Given the description of an element on the screen output the (x, y) to click on. 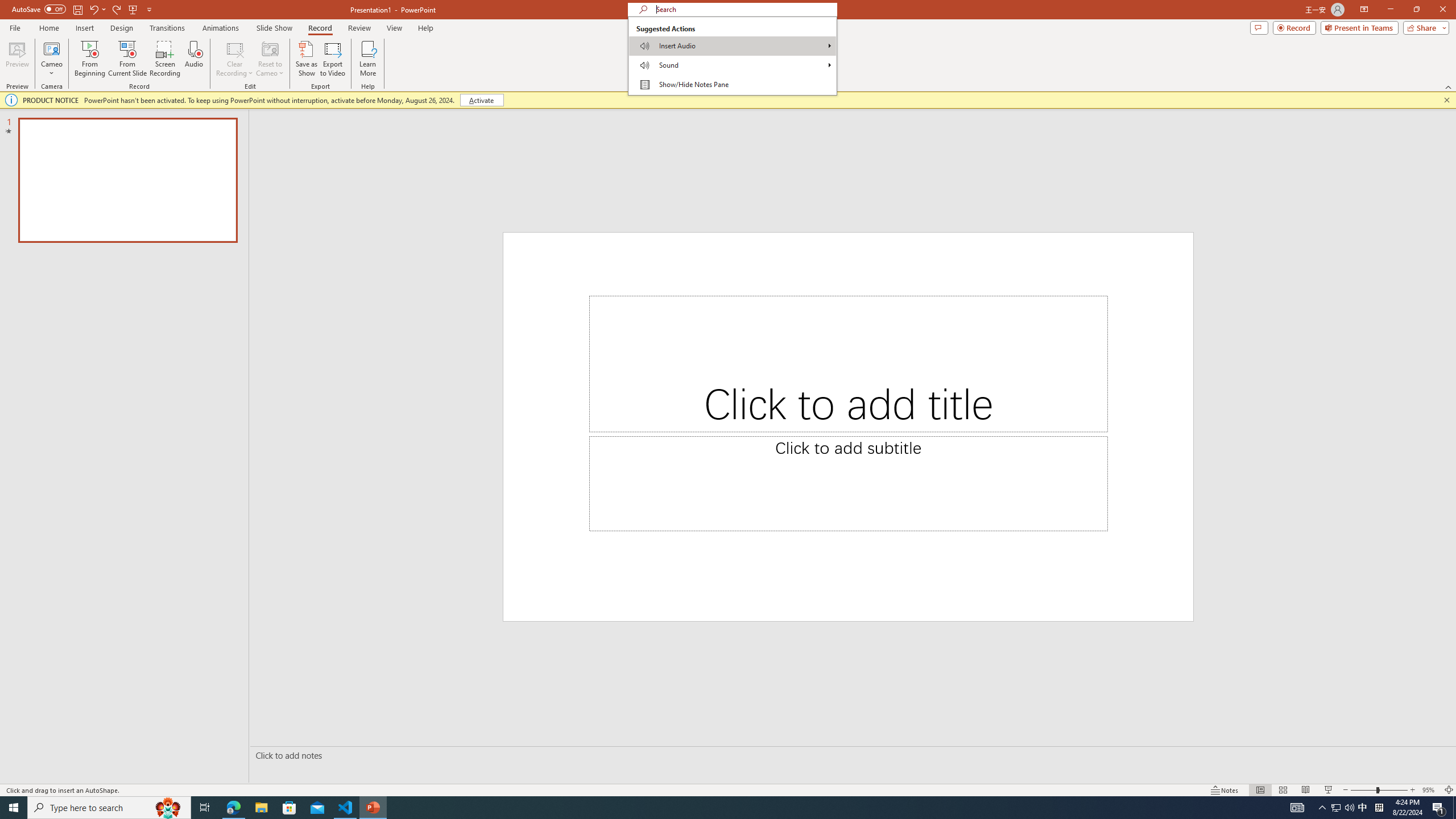
Class: NetUITWMenuContainer (731, 56)
Show/Hide Notes Pane (731, 84)
